Given the description of an element on the screen output the (x, y) to click on. 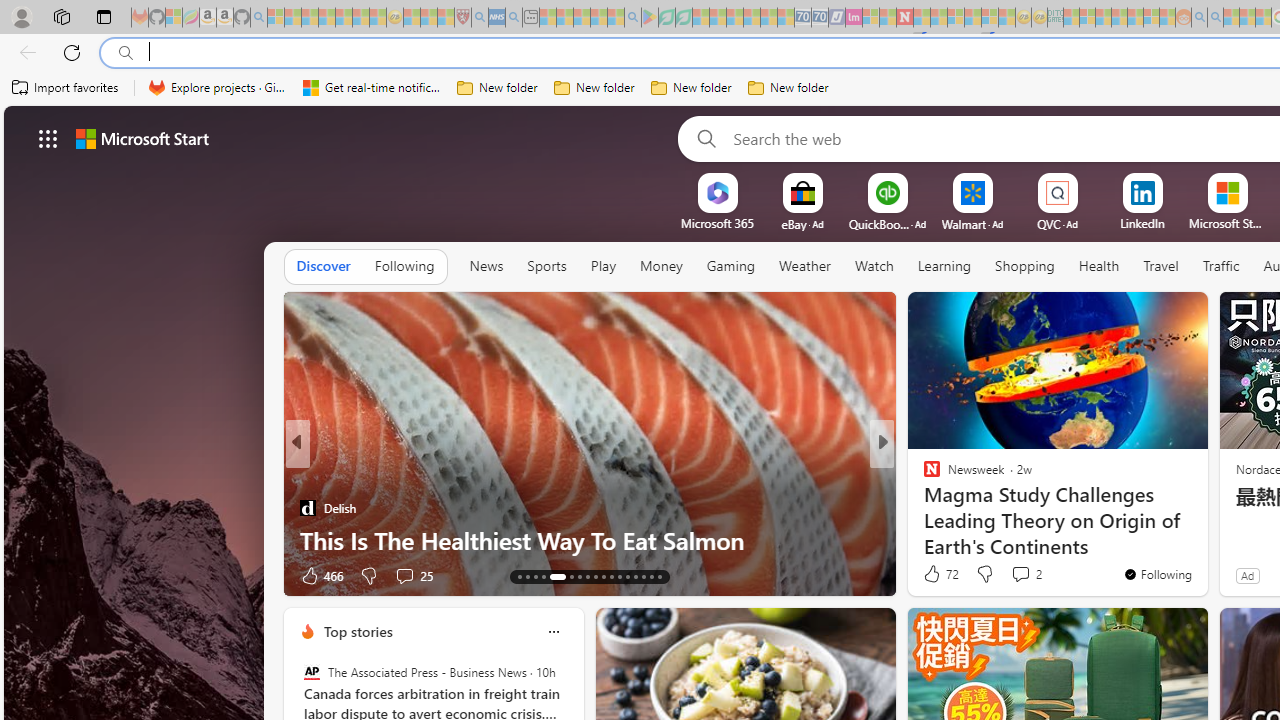
Kitchen & Kennel (923, 475)
Ad Choice (873, 575)
Nordace (938, 475)
Following (404, 265)
Trusted Community Engagement and Contributions | Guidelines (921, 17)
Discover (323, 265)
Microsoft start (142, 138)
Travel (1160, 265)
Start the conversation (1013, 574)
AutomationID: tab-17 (553, 576)
